Given the description of an element on the screen output the (x, y) to click on. 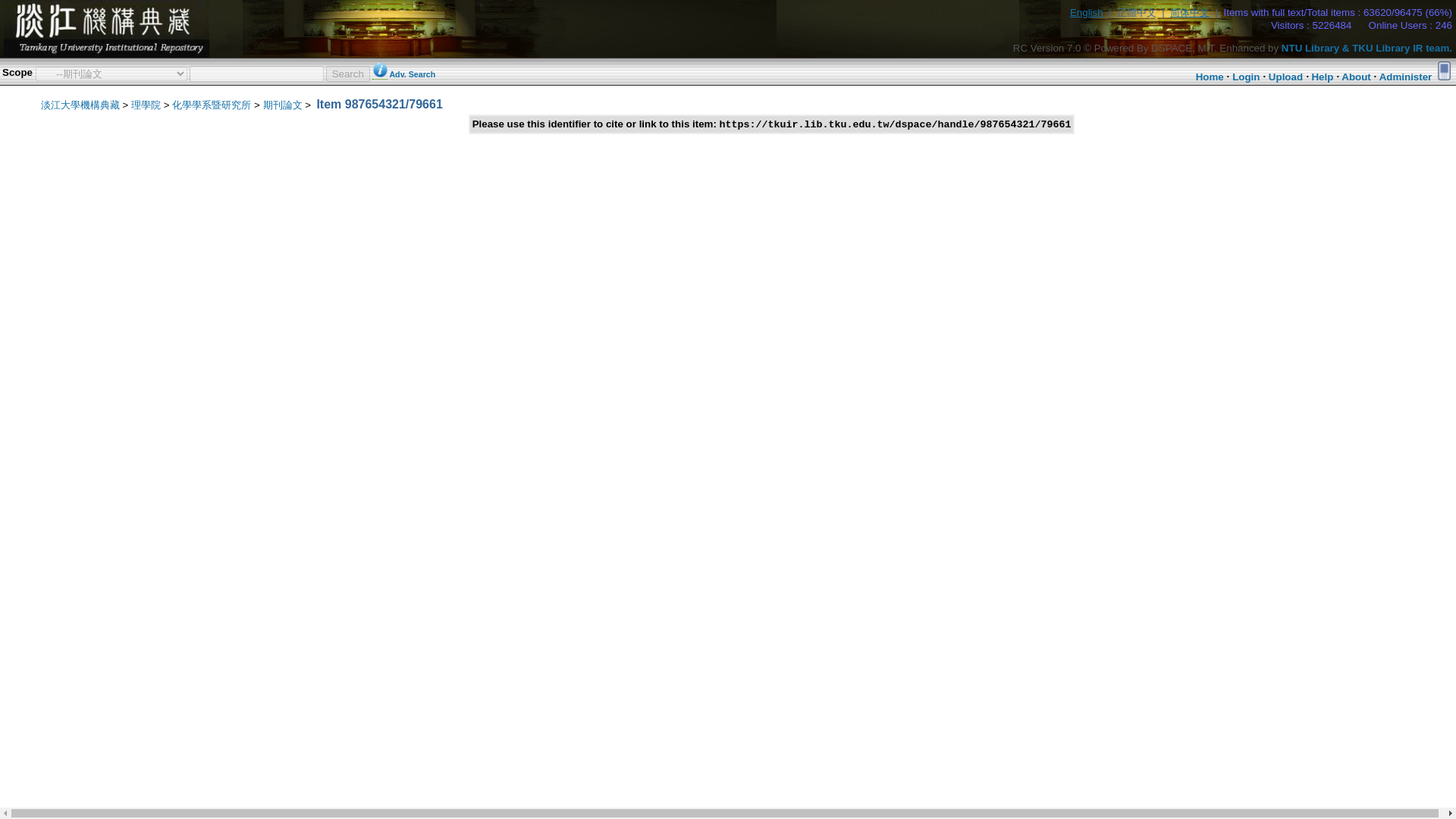
English (1087, 12)
Help (1322, 76)
About (1355, 76)
Home (1209, 76)
Adv. Search (411, 73)
Search (347, 73)
Search (347, 73)
Goto mobile version (1443, 69)
Upload (1285, 76)
Login (1245, 76)
